Given the description of an element on the screen output the (x, y) to click on. 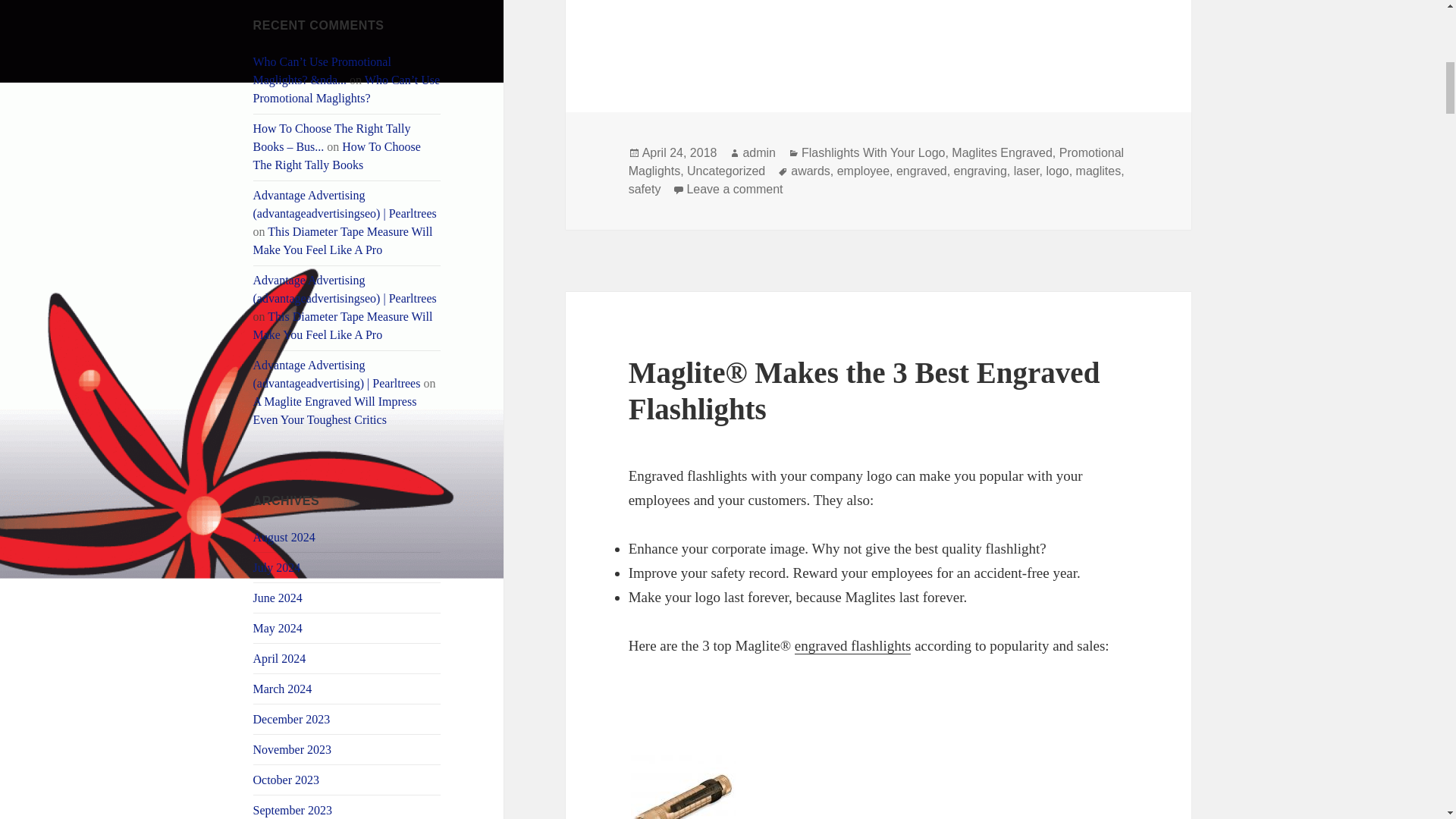
How To Choose The Right Tally Books (336, 155)
June 2024 (277, 597)
September 2023 (292, 809)
April 2024 (279, 658)
October 2023 (286, 779)
May 2024 (277, 627)
This Diameter Tape Measure Will Make You Feel Like A Pro (342, 240)
This Diameter Tape Measure Will Make You Feel Like A Pro (342, 325)
March 2024 (283, 688)
November 2023 (292, 748)
